Given the description of an element on the screen output the (x, y) to click on. 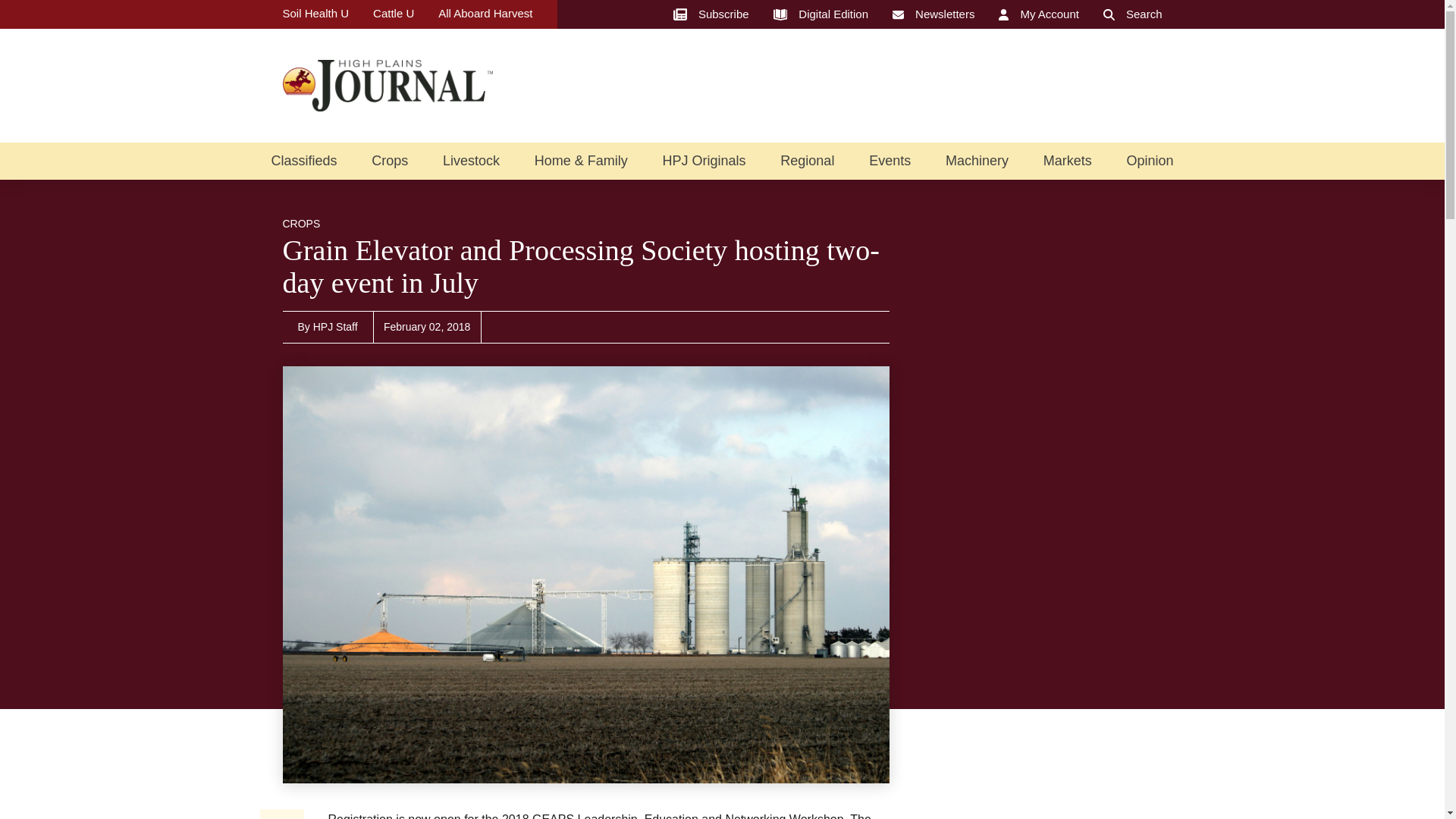
3rd party ad content (1047, 696)
3rd party ad content (1047, 461)
Soil Health U (315, 13)
3rd party ad content (885, 85)
Crops (389, 160)
Subscribe (710, 14)
All Aboard Harvest (485, 13)
Classifieds (303, 160)
Digital Edition (820, 14)
My Account (1038, 14)
Cattle U (392, 13)
Search (1132, 14)
Newsletters (933, 14)
Livestock (470, 160)
